Given the description of an element on the screen output the (x, y) to click on. 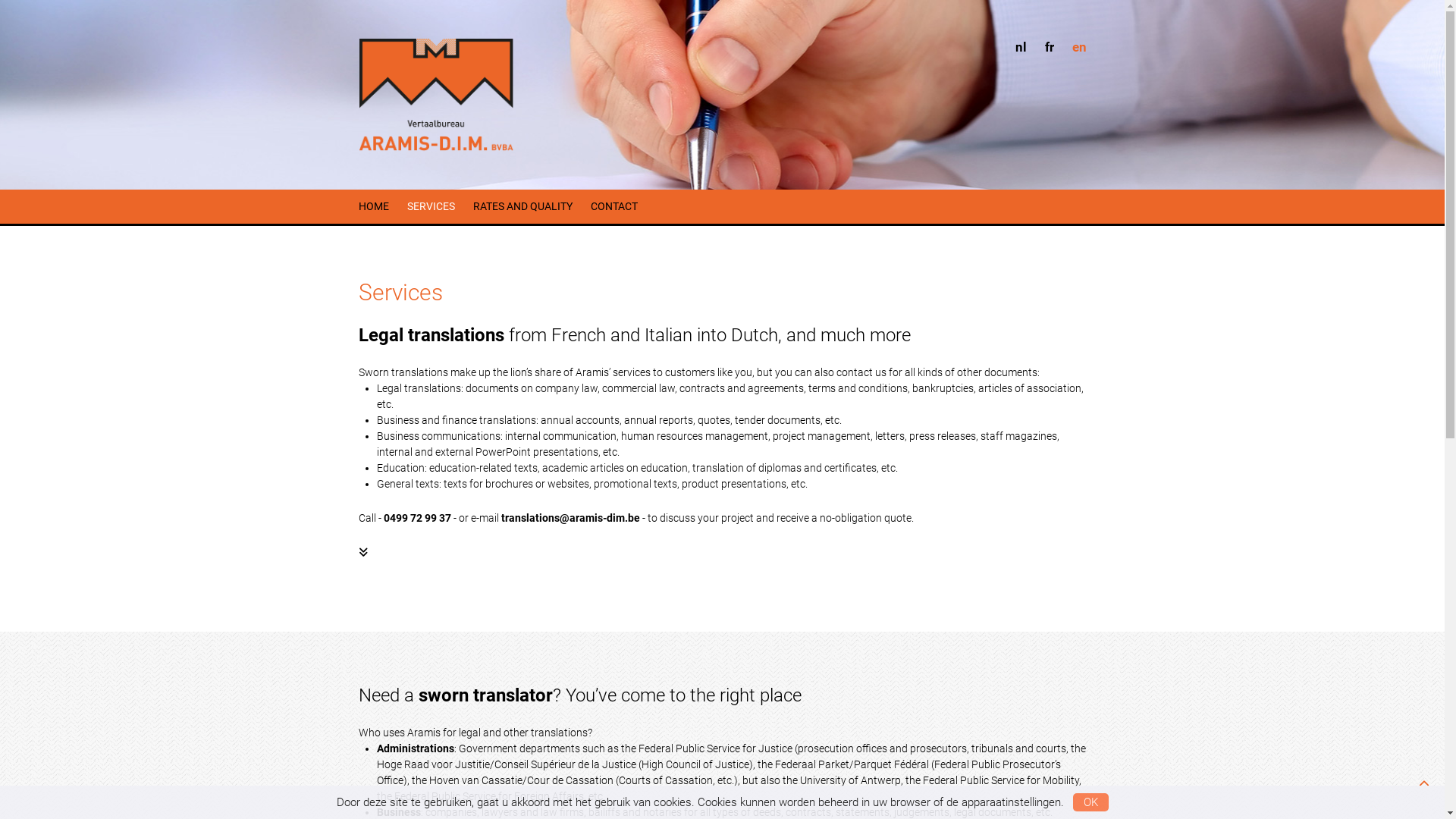
RATES AND QUALITY Element type: text (522, 206)
OK Element type: text (1089, 802)
nl Element type: text (1020, 47)
en Element type: text (1079, 47)
fr Element type: text (1049, 47)
translations@aramis-dim.be Element type: text (569, 517)
0499 72 99 37 Element type: text (417, 517)
SERVICES Element type: text (430, 206)
HOME Element type: text (372, 206)
CONTACT Element type: text (613, 206)
